Given the description of an element on the screen output the (x, y) to click on. 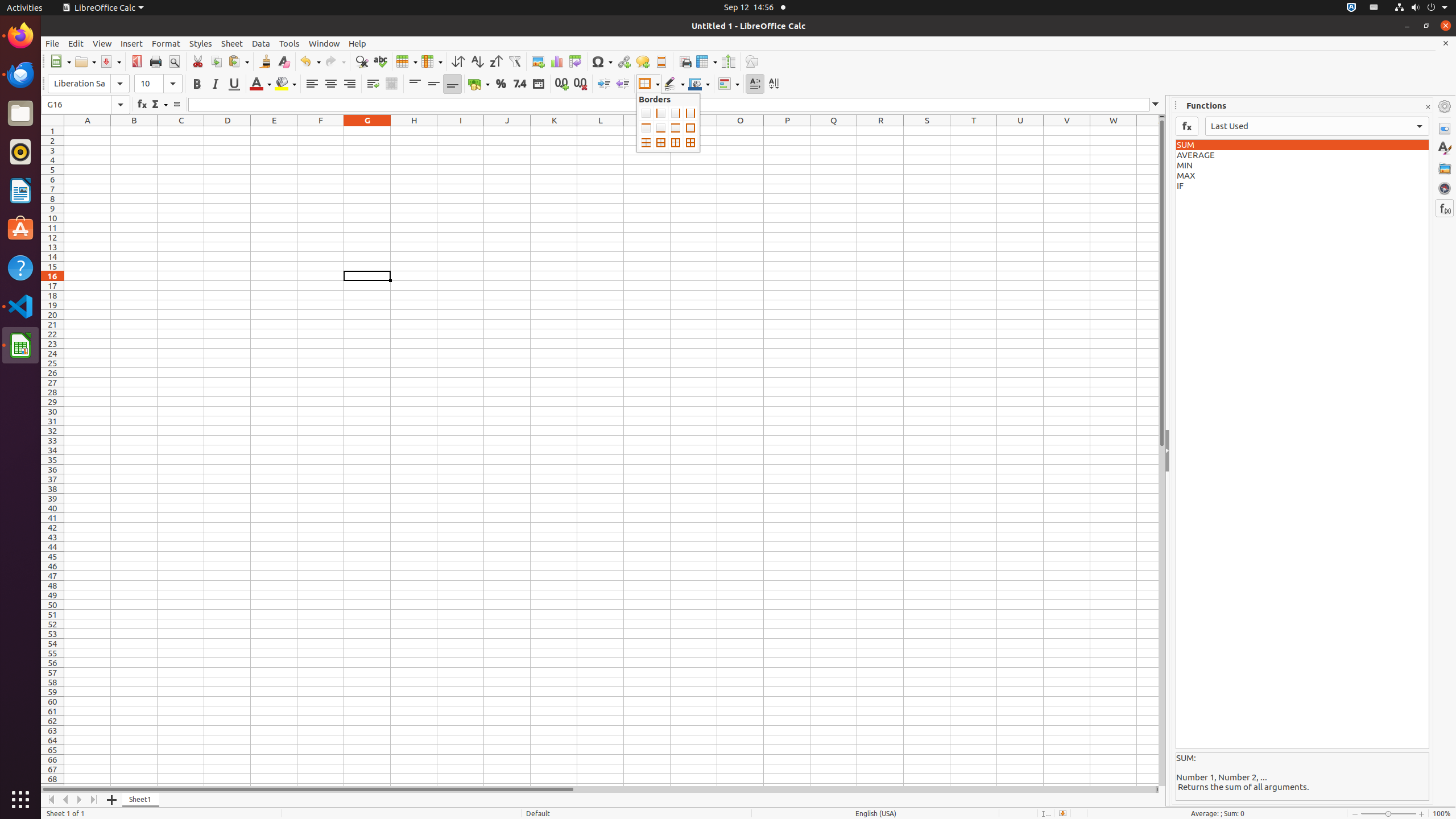
Font Size Element type: combo-box (158, 83)
D1 Element type: table-cell (227, 130)
Functions Element type: radio-button (1444, 208)
Undo Element type: push-button (309, 61)
O1 Element type: table-cell (740, 130)
